Given the description of an element on the screen output the (x, y) to click on. 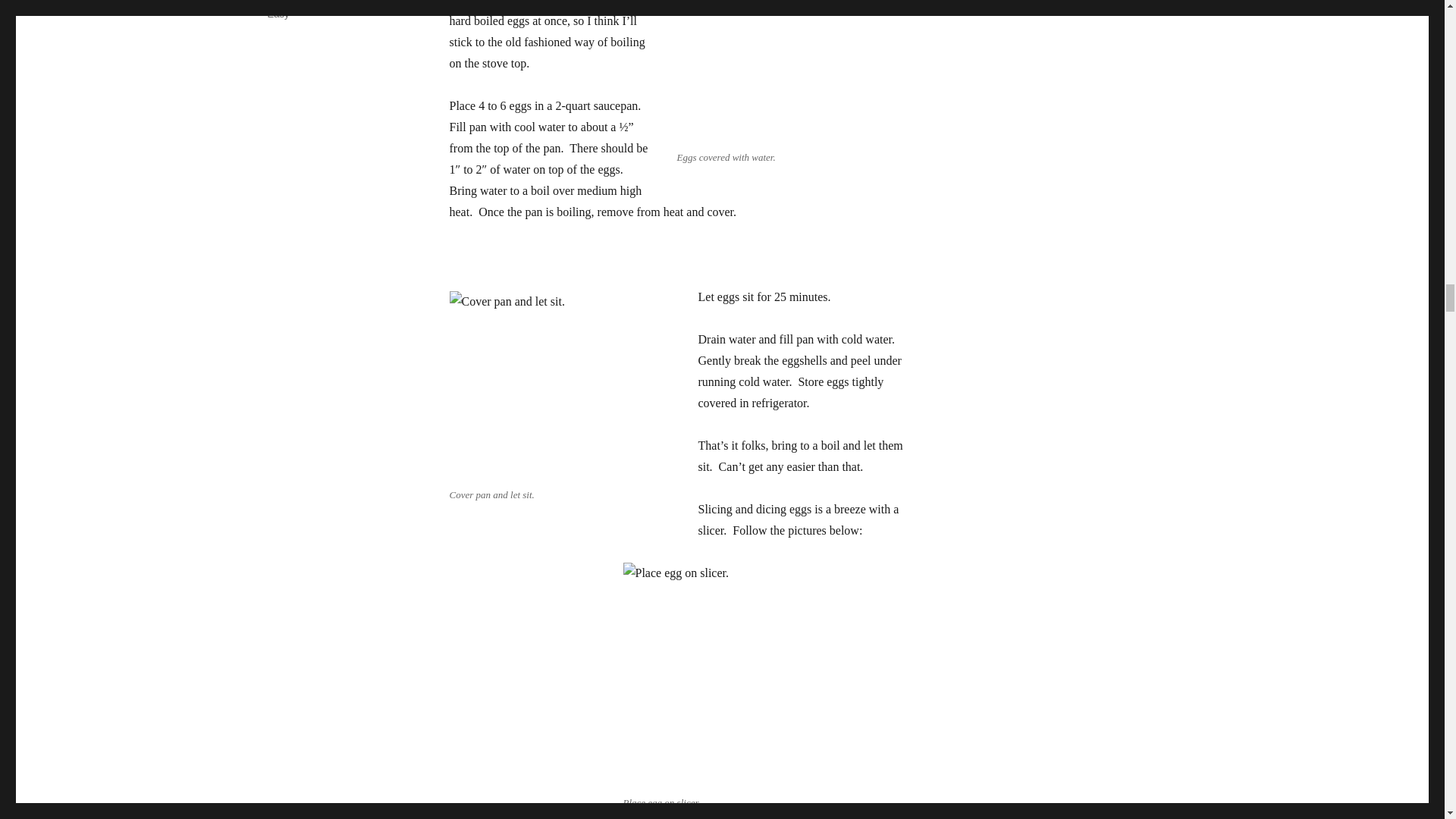
Granny Knows (298, 2)
Quick and Easy (323, 9)
